Given the description of an element on the screen output the (x, y) to click on. 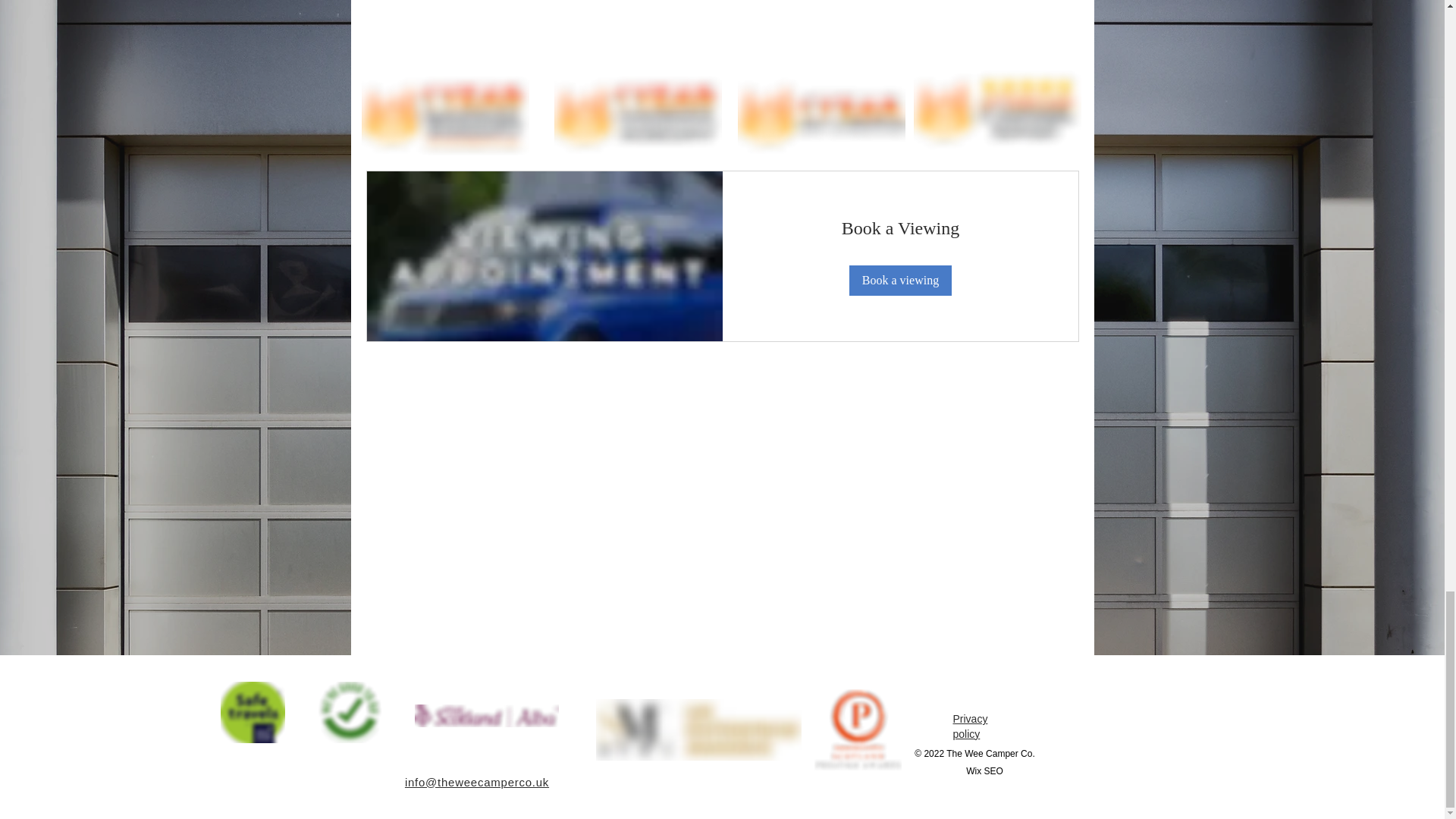
Privacy policy (969, 726)
Book a viewing (899, 280)
Wix SEO (984, 770)
Book a Viewing (899, 228)
